Given the description of an element on the screen output the (x, y) to click on. 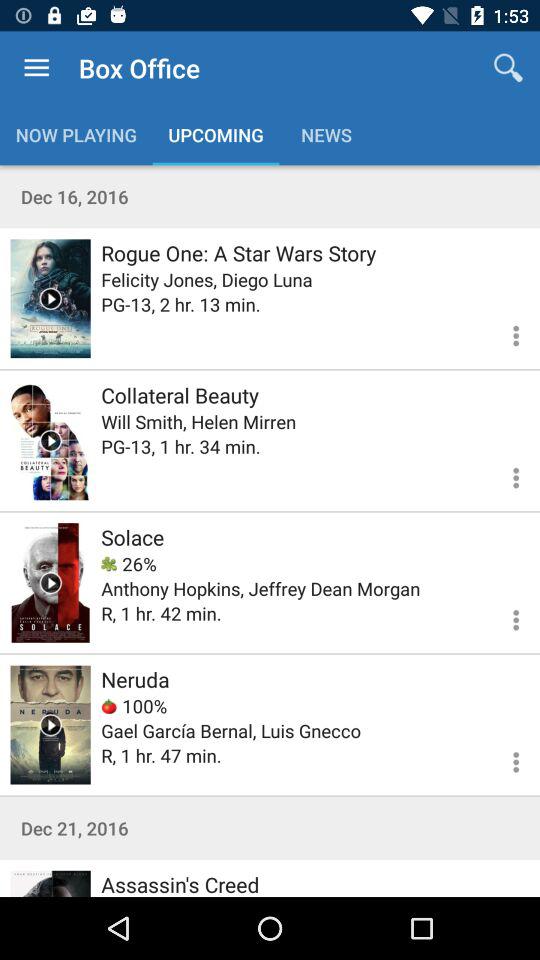
more options (503, 475)
